Given the description of an element on the screen output the (x, y) to click on. 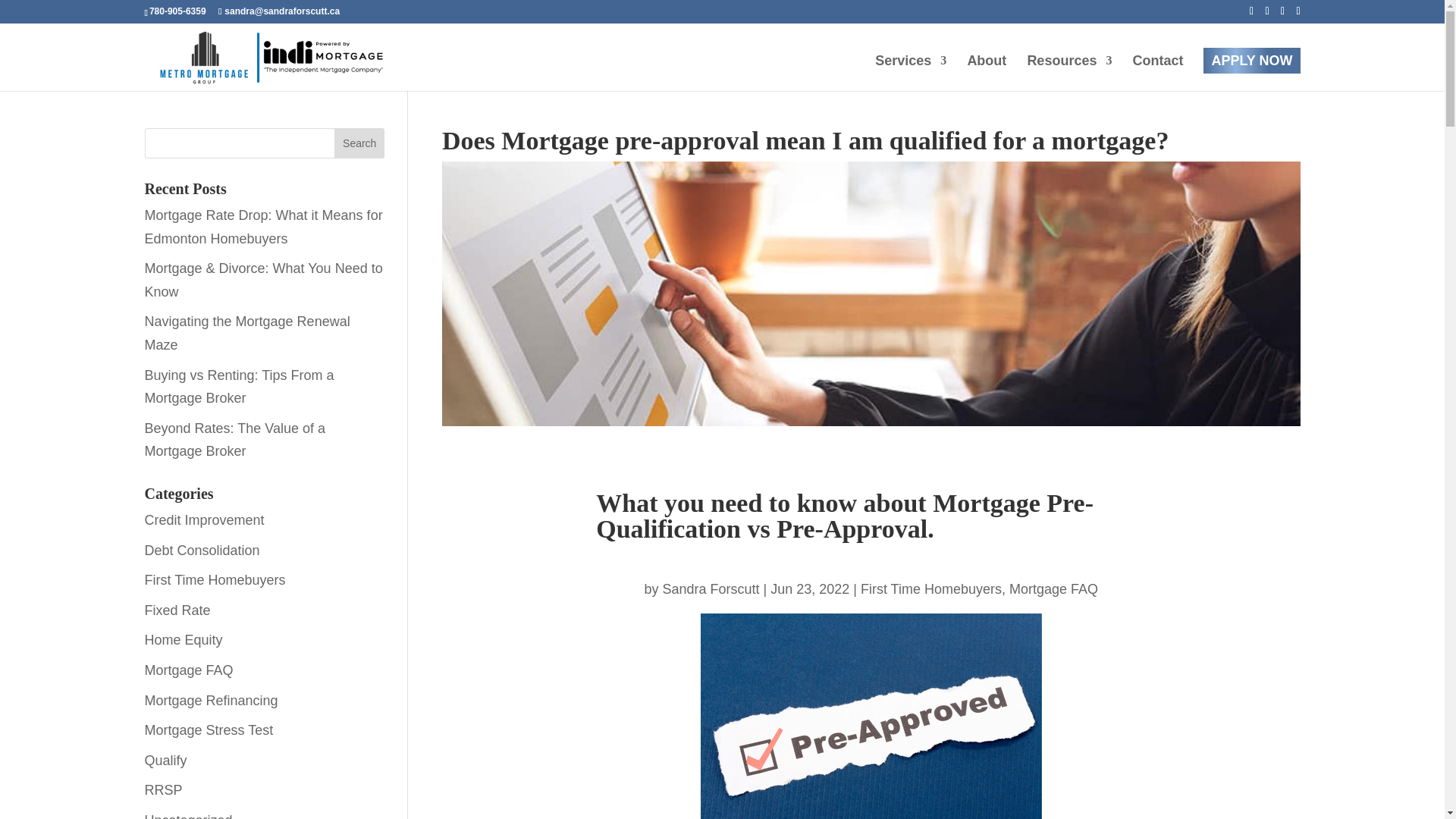
Contact (1157, 72)
Services (910, 72)
780-905-6359 (177, 10)
Resources (1069, 72)
APPLY NOW (1252, 60)
Search (359, 142)
Services (910, 72)
About (986, 72)
